Given the description of an element on the screen output the (x, y) to click on. 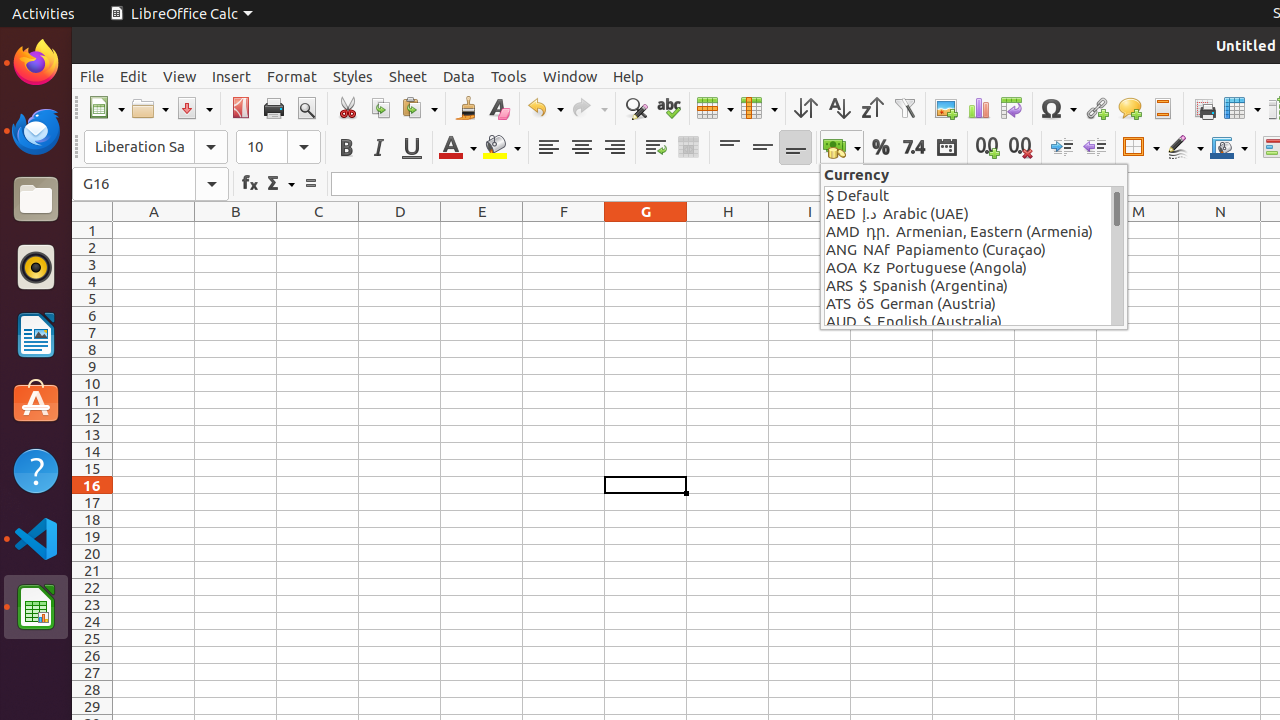
Font Color Element type: push-button (458, 147)
A1 Element type: table-cell (154, 230)
Border Color Element type: push-button (1229, 147)
C1 Element type: table-cell (318, 230)
